Given the description of an element on the screen output the (x, y) to click on. 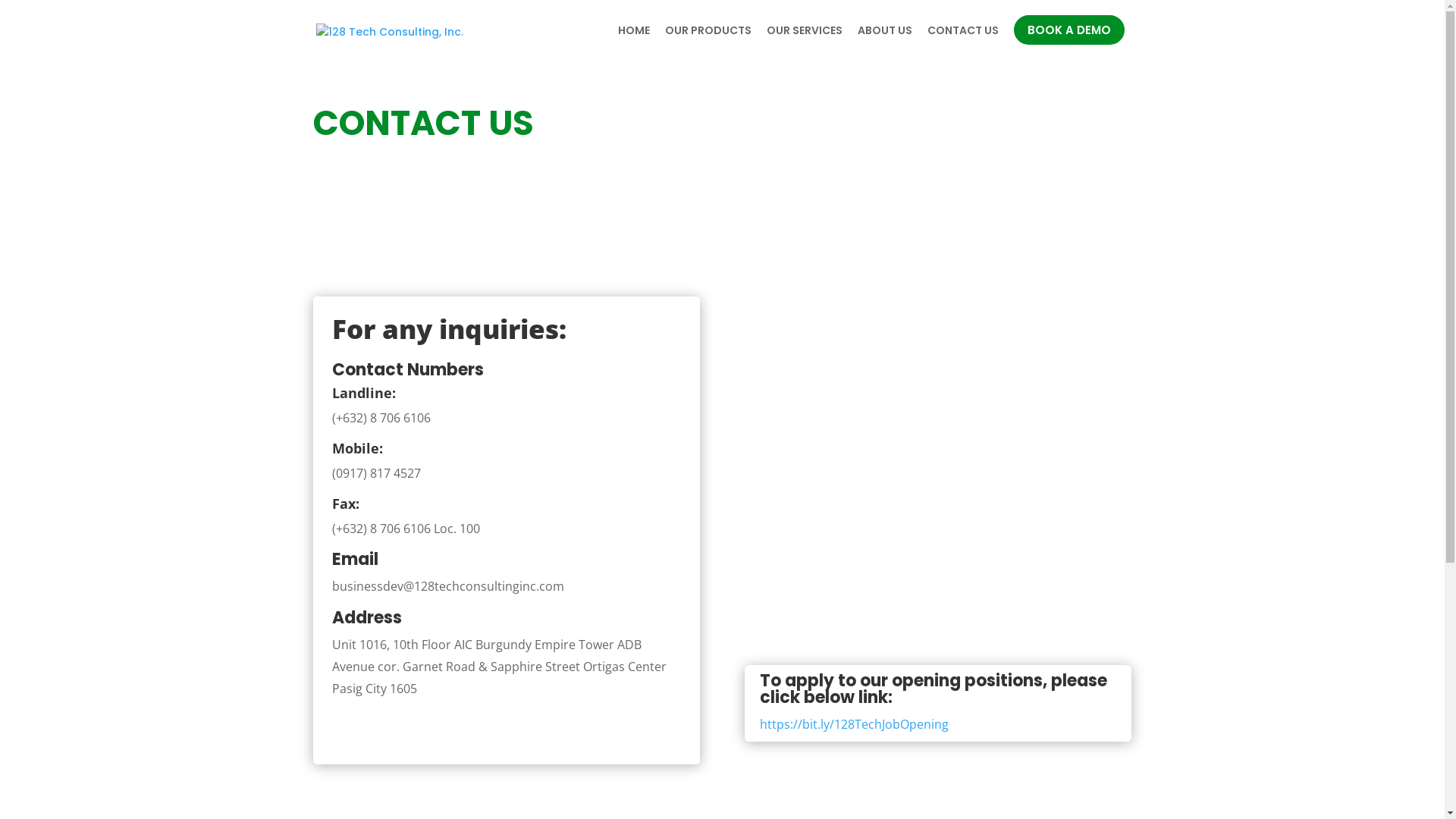
CONTACT US Element type: text (961, 44)
OUR PRODUCTS Element type: text (707, 44)
BOOK A DEMO Element type: text (1068, 29)
HOME Element type: text (633, 44)
https://bit.ly/128TechJobOpening Element type: text (853, 723)
ABOUT US Element type: text (883, 44)
OUR SERVICES Element type: text (803, 44)
